Given the description of an element on the screen output the (x, y) to click on. 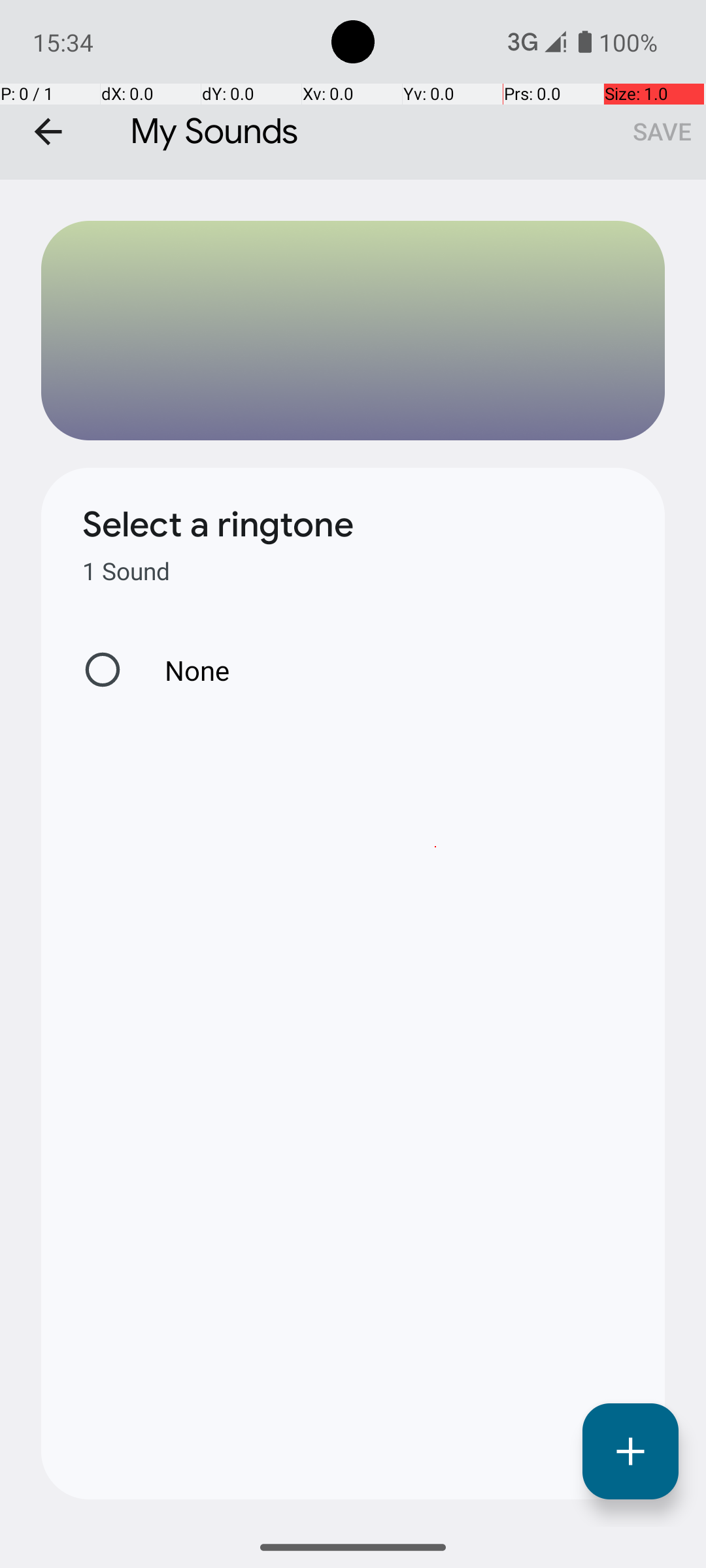
My Sounds Element type: android.widget.FrameLayout (353, 89)
Add sound files Element type: android.widget.ImageButton (630, 1451)
Select a ringtone Element type: android.widget.TextView (217, 524)
1 Sound Element type: android.widget.TextView (125, 570)
